Given the description of an element on the screen output the (x, y) to click on. 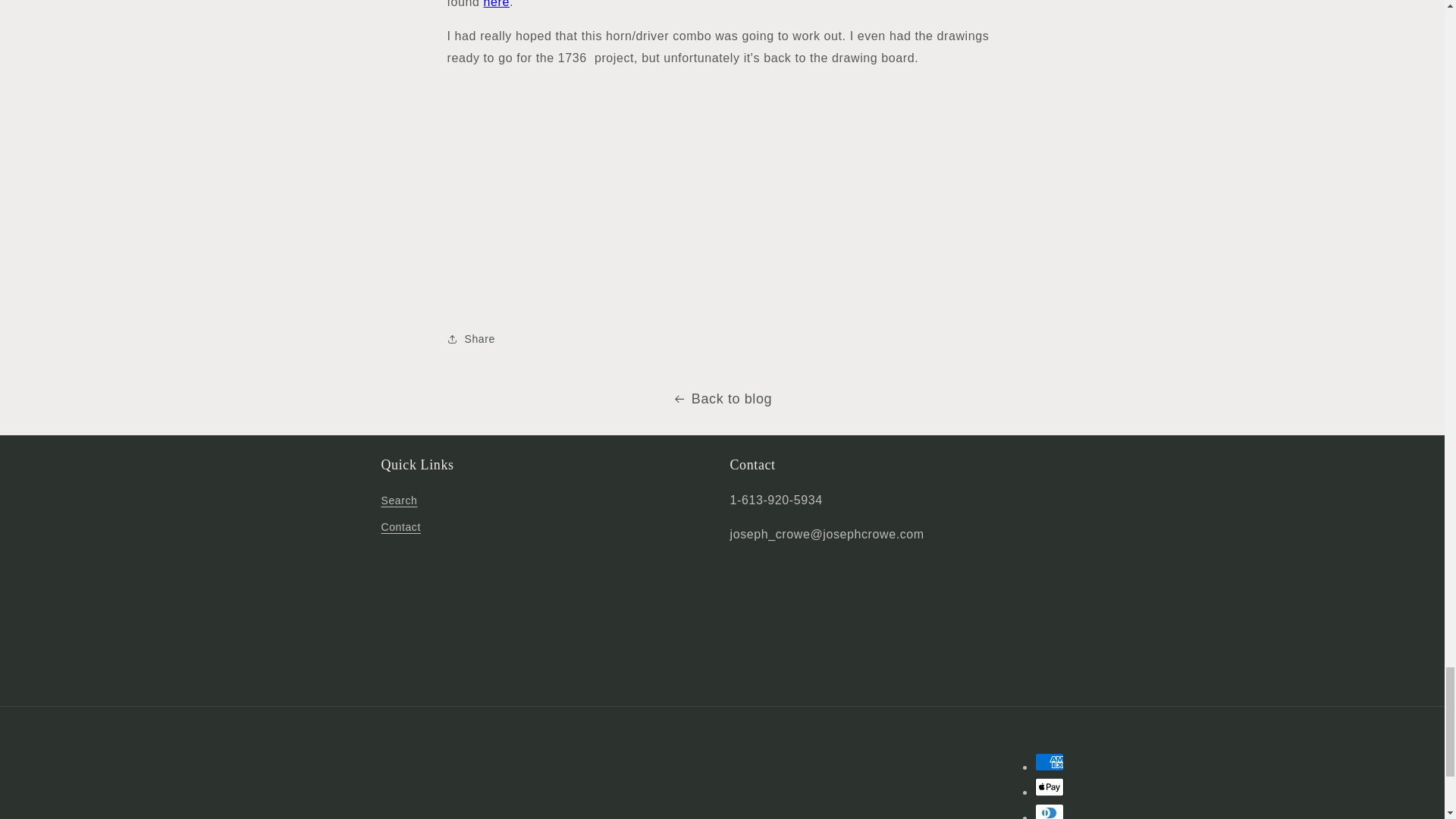
American Express (1047, 761)
Diners Club (1047, 811)
Apple Pay (1047, 787)
